Given the description of an element on the screen output the (x, y) to click on. 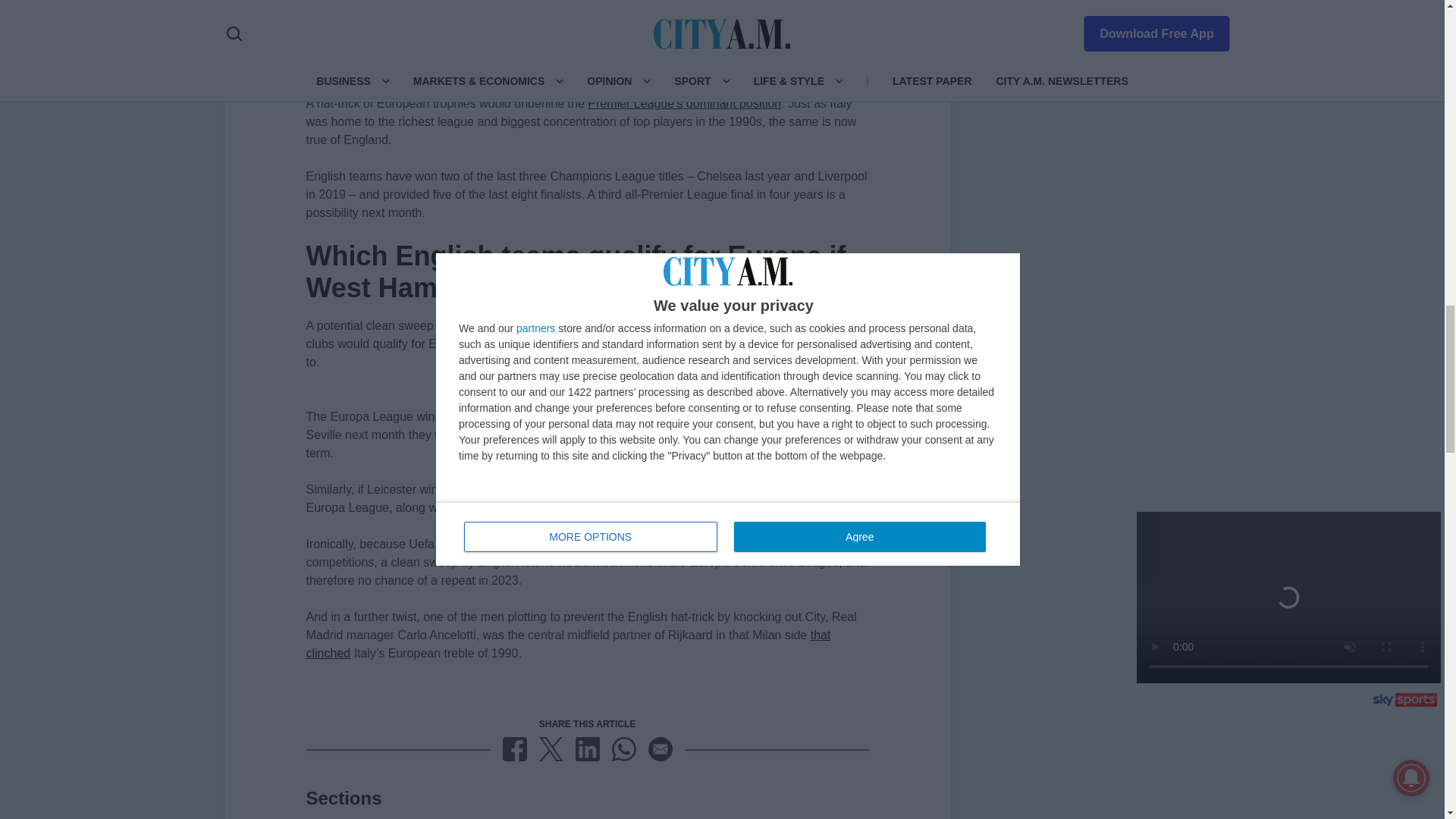
Facebook (513, 749)
X (550, 749)
LinkedIn (586, 749)
WhatsApp (622, 749)
Email (659, 749)
